Given the description of an element on the screen output the (x, y) to click on. 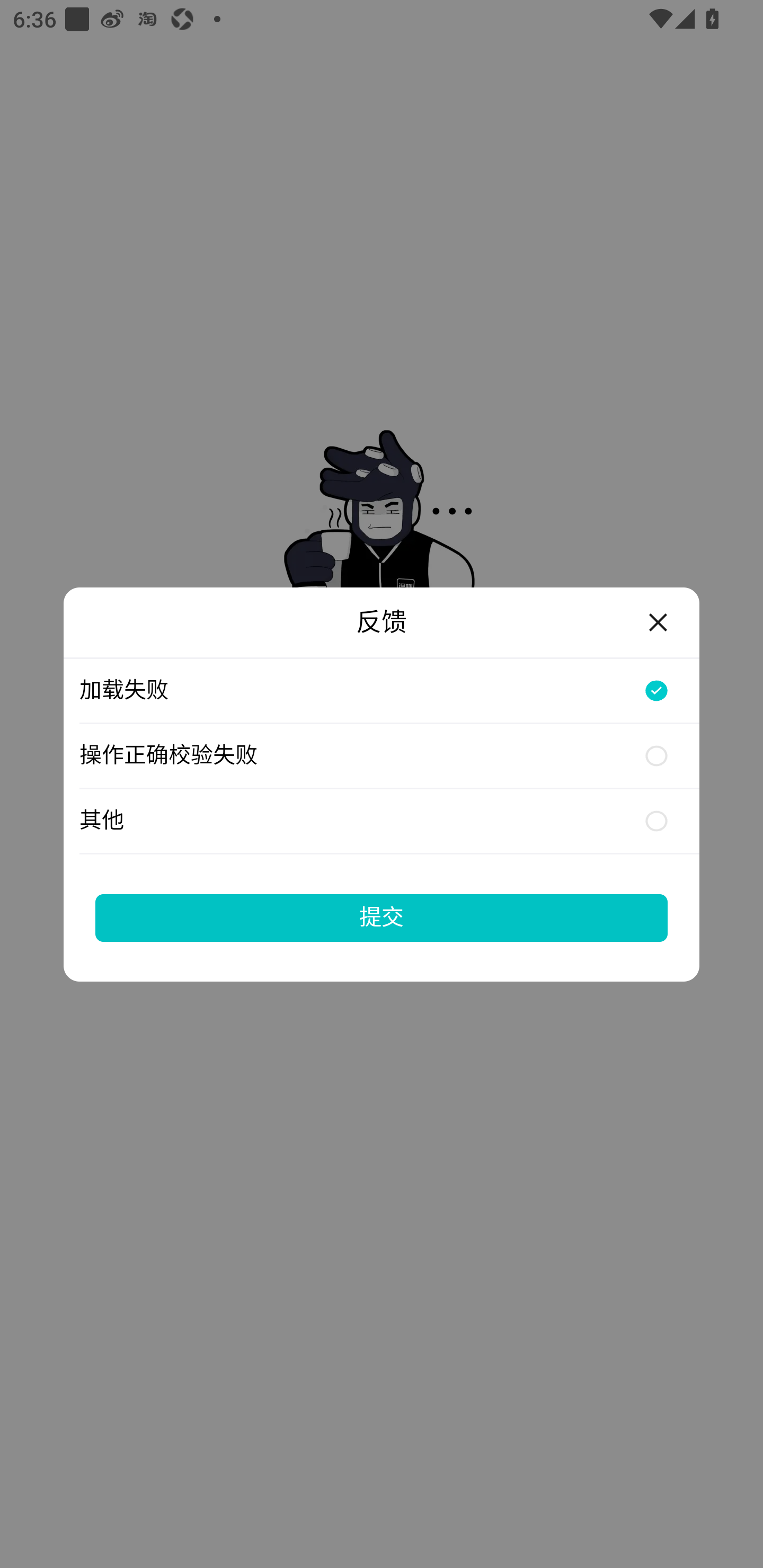
提交 (381, 917)
